Given the description of an element on the screen output the (x, y) to click on. 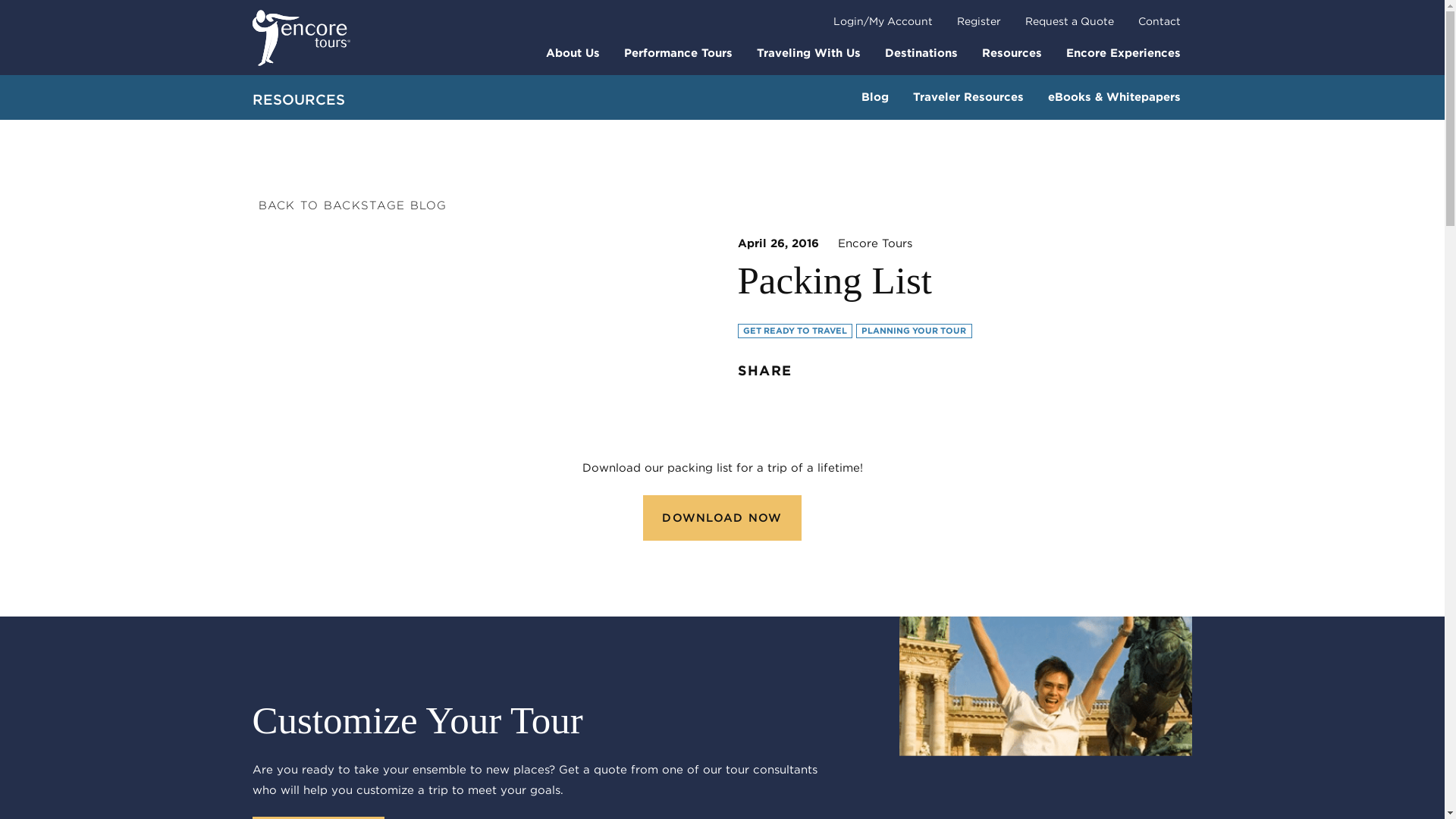
About Us (572, 52)
Destinations (920, 52)
Performance Tours (677, 52)
Performance Tours (677, 52)
About Us (572, 52)
Encore Experiences (1123, 52)
Register (978, 20)
Destinations (920, 52)
Traveling With Us (808, 52)
Resources (1010, 52)
